Given the description of an element on the screen output the (x, y) to click on. 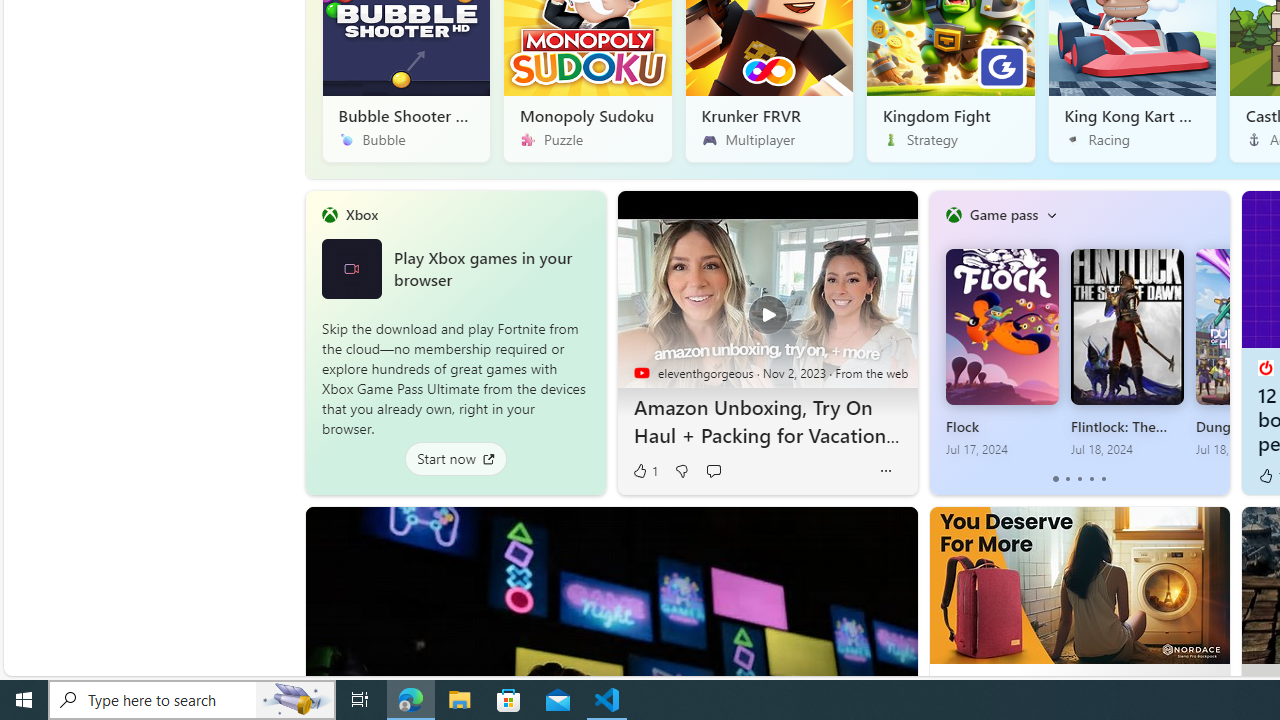
Class: previous-flipper (939, 342)
tab-1 (1067, 479)
Start now (454, 458)
Xbox Logo (351, 268)
Flintlock: The Siege of Dawn Jul 18, 2024 (1127, 353)
tab-3 (1091, 479)
tab-0 (1055, 479)
Class: icon-img (1051, 214)
Select Category (1051, 214)
